Given the description of an element on the screen output the (x, y) to click on. 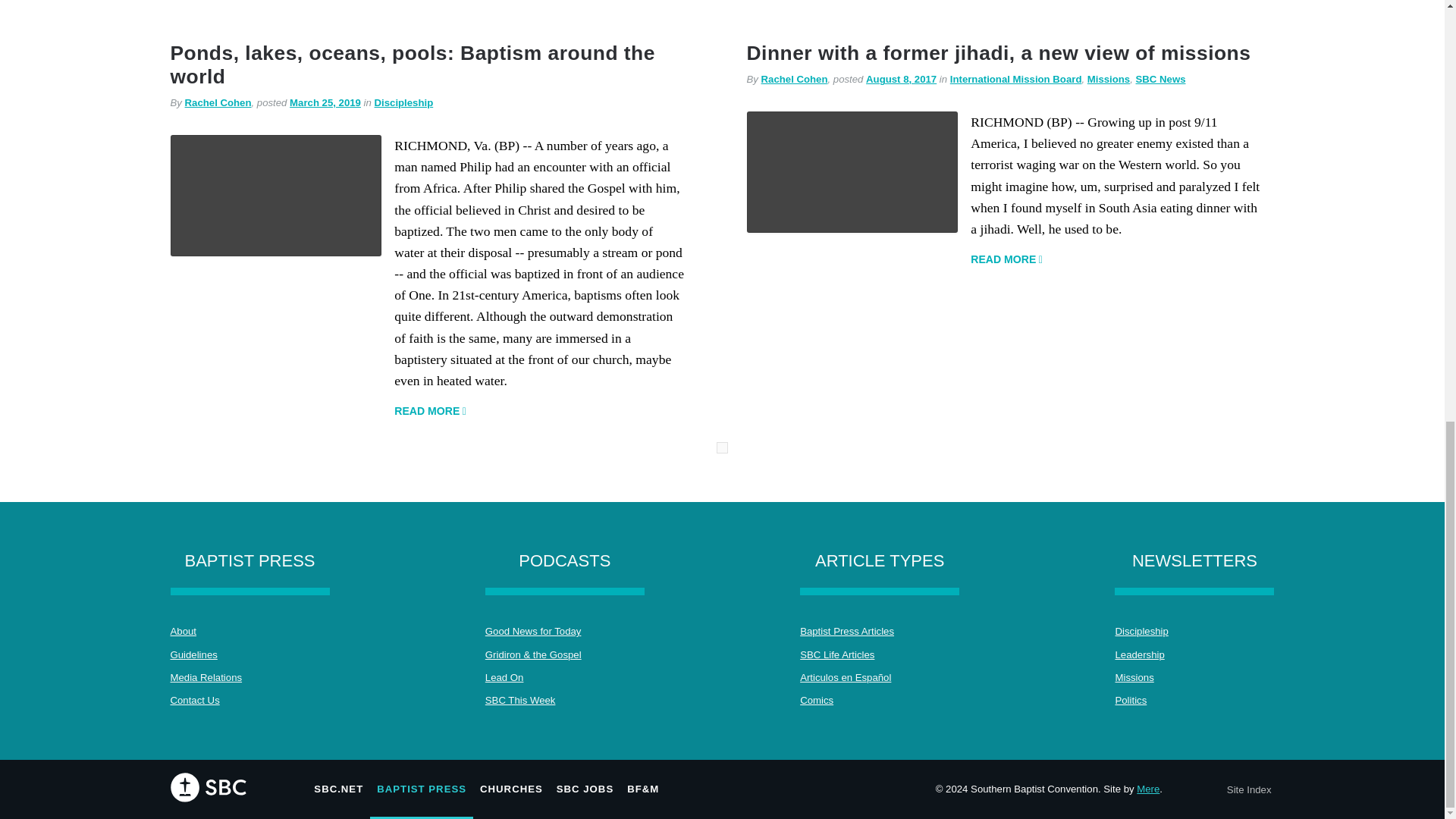
March 25, 2019 (325, 102)
READ MORE (429, 411)
Ponds, lakes, oceans, pools: Baptism around the world (411, 64)
Rachel Cohen (794, 79)
Dinner with a former jihadi, a new view of missions (997, 52)
Rachel Cohen (217, 102)
Discipleship (403, 102)
August 8, 2017 (901, 79)
